Given the description of an element on the screen output the (x, y) to click on. 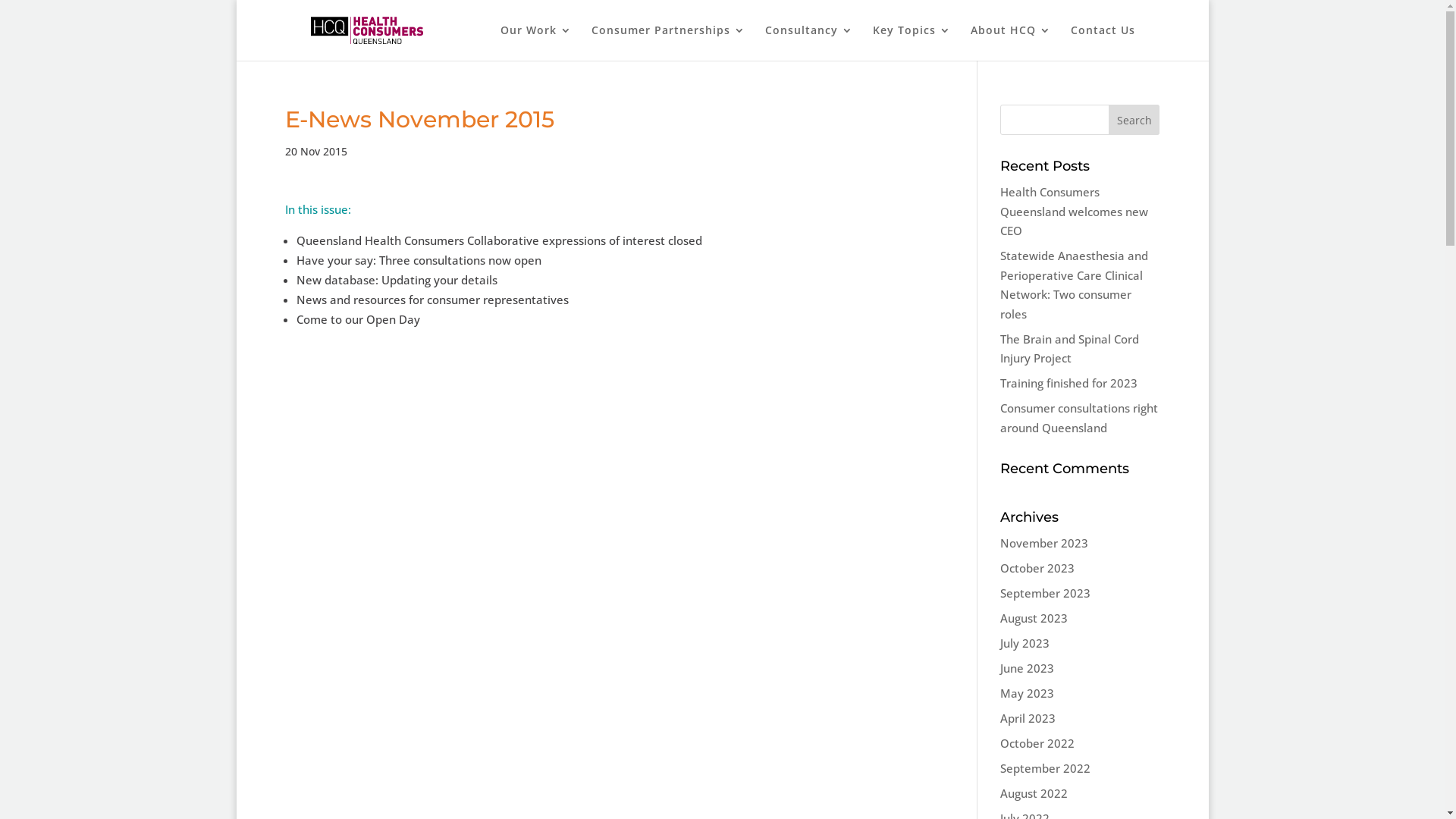
August 2022 Element type: text (1033, 792)
Contact Us Element type: text (1102, 42)
In this issue: Element type: text (318, 208)
September 2023 Element type: text (1045, 592)
Consultancy Element type: text (809, 42)
November 2023 Element type: text (1044, 542)
Consumer Partnerships Element type: text (668, 42)
Search Element type: text (1134, 119)
Training finished for 2023 Element type: text (1068, 382)
April 2023 Element type: text (1027, 717)
July 2023 Element type: text (1024, 642)
Health Consumers Queensland welcomes new CEO Element type: text (1074, 211)
Key Topics Element type: text (911, 42)
About HCQ Element type: text (1010, 42)
Our Work Element type: text (535, 42)
October 2023 Element type: text (1037, 567)
Consumer consultations right around Queensland Element type: text (1078, 417)
June 2023 Element type: text (1027, 667)
August 2023 Element type: text (1033, 617)
The Brain and Spinal Cord Injury Project Element type: text (1069, 348)
September 2022 Element type: text (1045, 767)
October 2022 Element type: text (1037, 742)
May 2023 Element type: text (1027, 692)
